Given the description of an element on the screen output the (x, y) to click on. 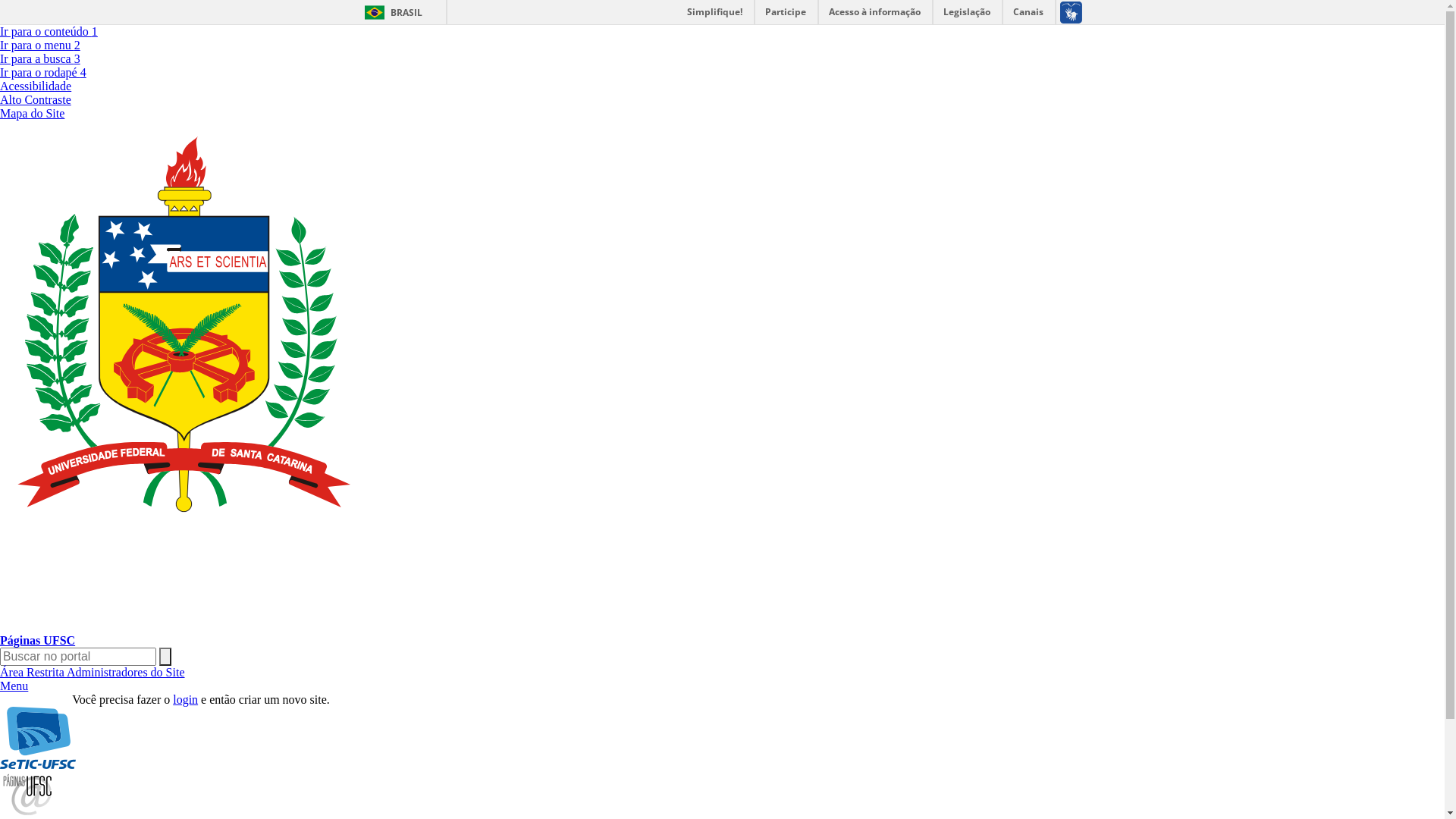
Administradores do Site Element type: text (125, 671)
Acessibilidade Element type: text (35, 85)
Mapa do Site Element type: text (32, 112)
Ir para o menu 2 Element type: text (40, 44)
Menu Element type: text (14, 685)
BRASIL Element type: text (389, 12)
Ir para a busca 3 Element type: text (40, 58)
login Element type: text (184, 699)
Alto Contraste Element type: text (35, 99)
